Given the description of an element on the screen output the (x, y) to click on. 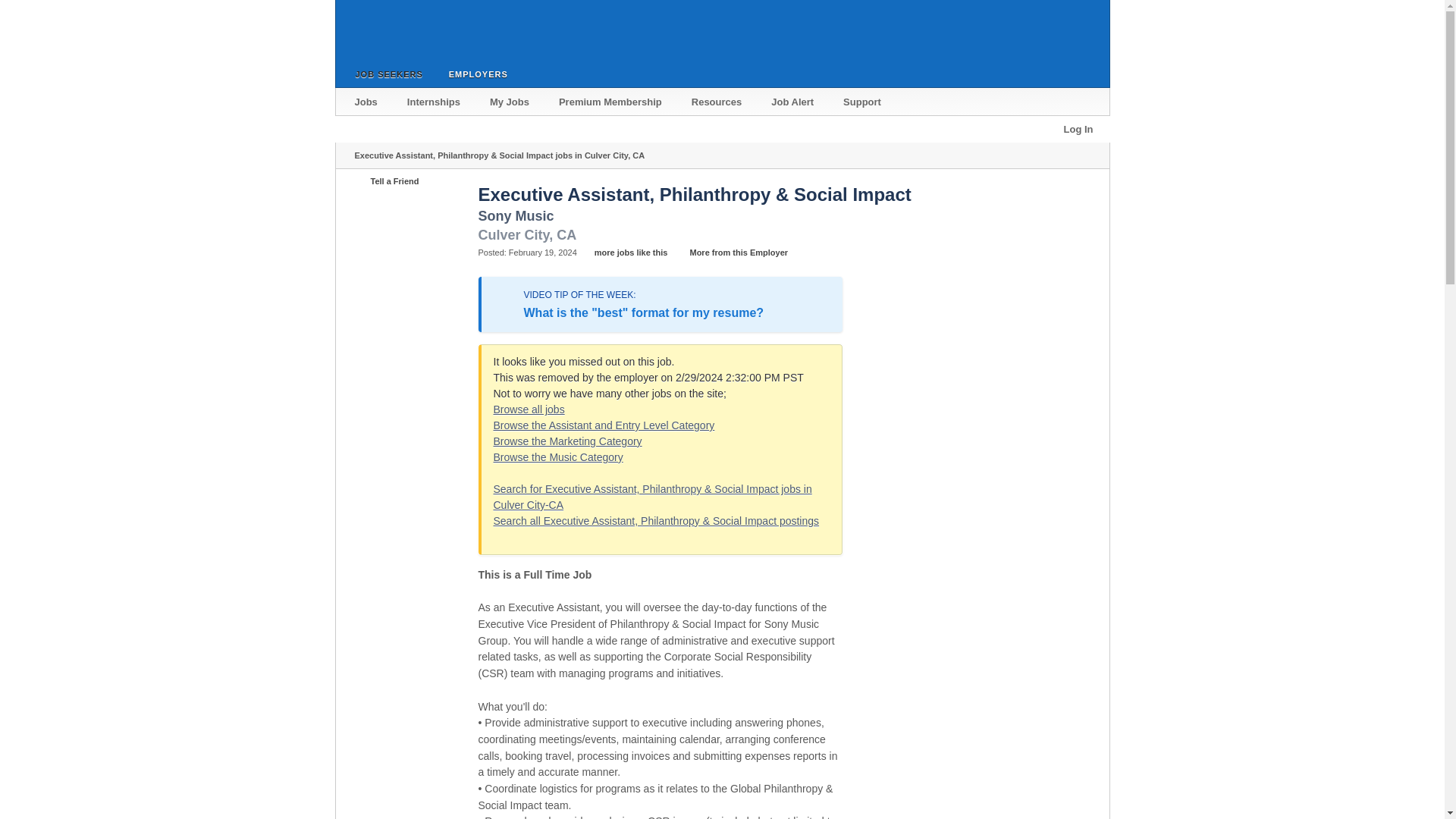
Browse the Marketing Category (567, 440)
Premium Membership (611, 101)
My Jobs (510, 101)
more jobs like this (623, 252)
Tell a Friend (404, 177)
Browse all jobs (528, 409)
Browse the Assistant and Entry Level Category (603, 425)
Support (862, 101)
More from this Employer (730, 252)
Job Alert (793, 101)
